Given the description of an element on the screen output the (x, y) to click on. 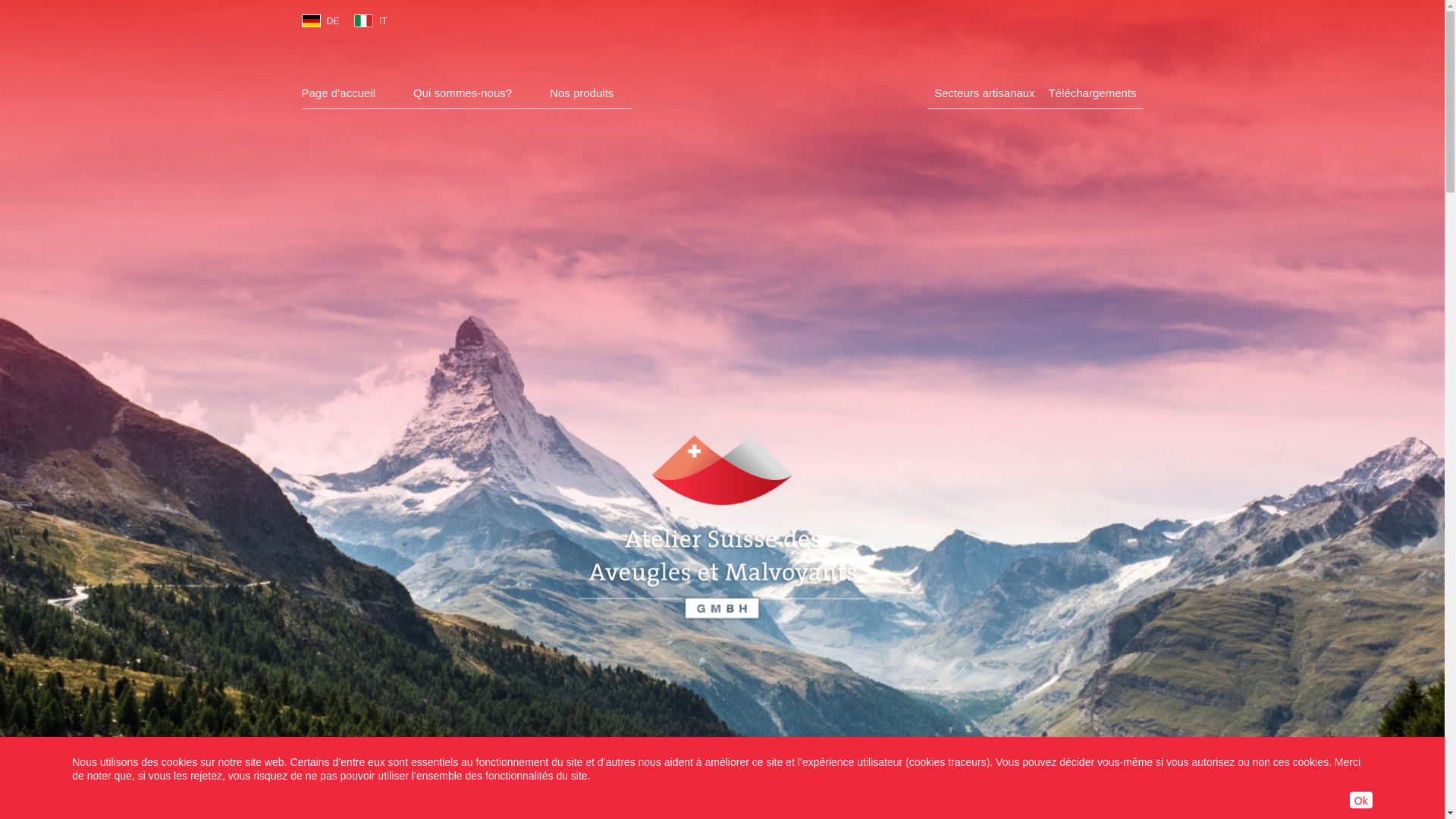
Secteurs artisanaux Element type: text (984, 93)
Ok Element type: text (1360, 799)
IT Element type: hover (363, 20)
Nos produits Element type: text (581, 93)
Qui sommes-nous? Element type: text (462, 93)
DE Element type: hover (310, 20)
